Given the description of an element on the screen output the (x, y) to click on. 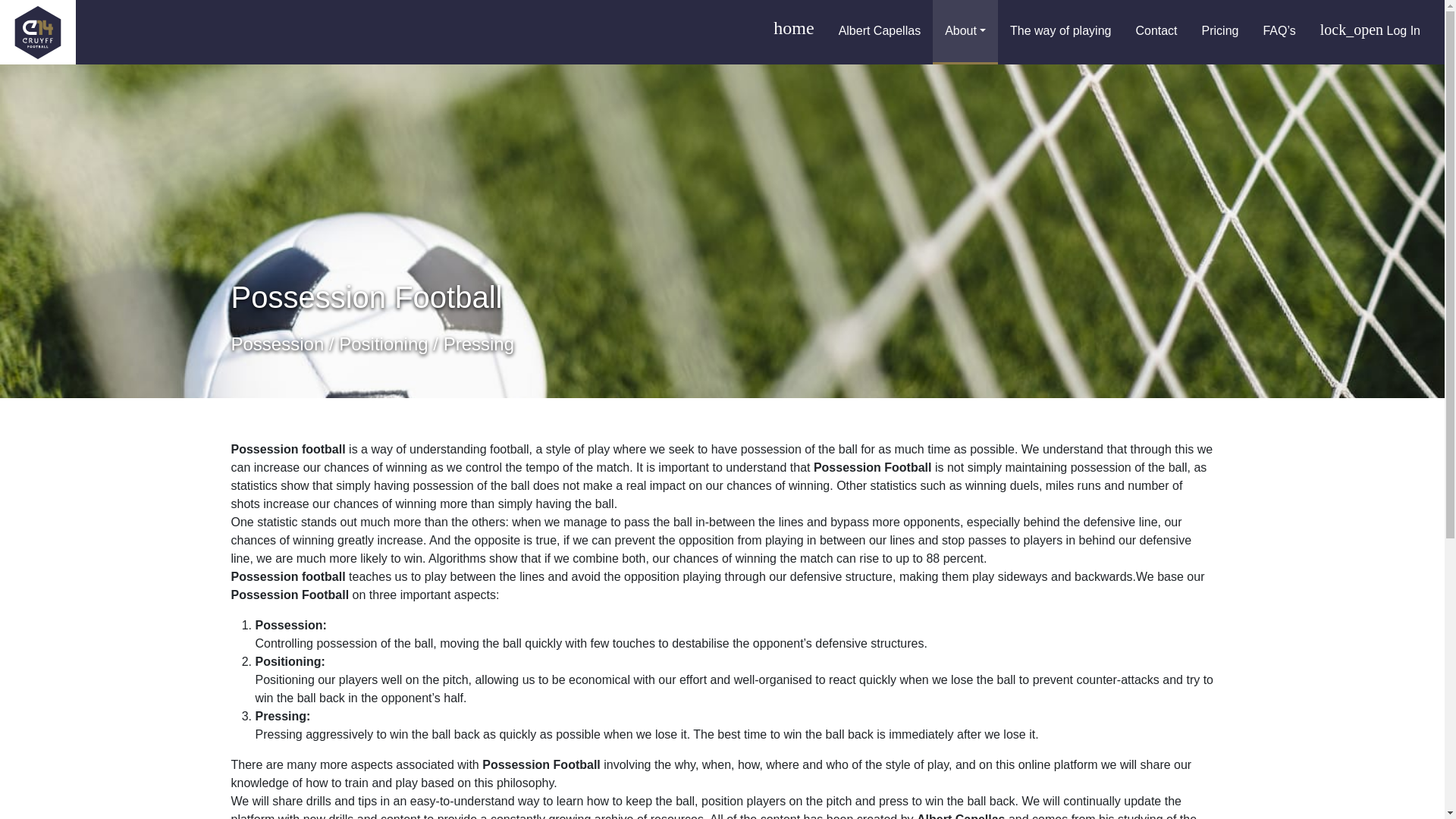
Albert Capellas (880, 32)
Albert Capellas (880, 32)
About (965, 32)
Contact (1155, 32)
home (793, 32)
Contact (1155, 32)
Pricing (1219, 32)
About (965, 32)
 home  (793, 32)
The way of playing (1059, 32)
The way of playing (1059, 32)
Pricing (1219, 32)
